Given the description of an element on the screen output the (x, y) to click on. 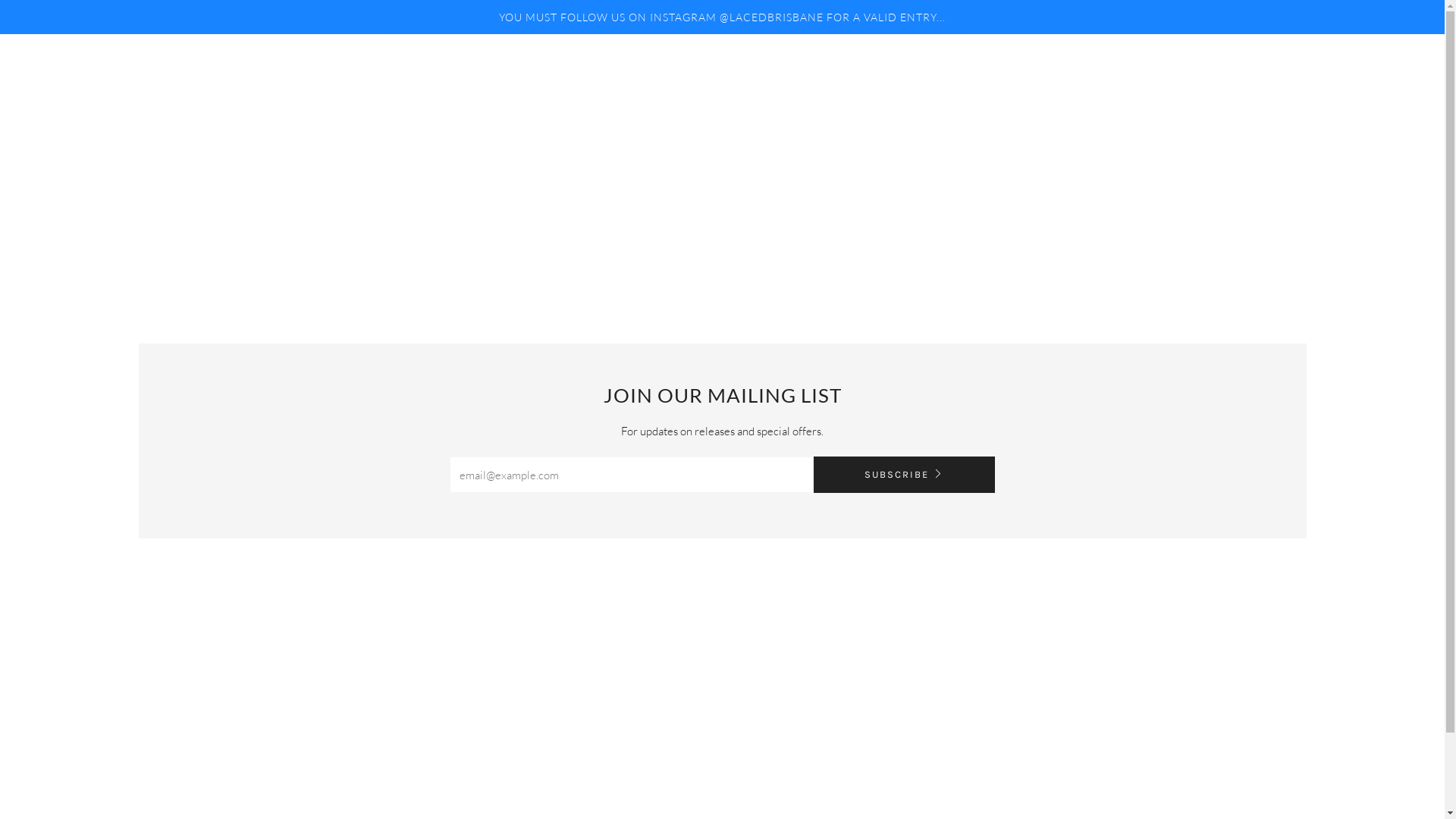
SUBSCRIBE Element type: text (903, 474)
